Given the description of an element on the screen output the (x, y) to click on. 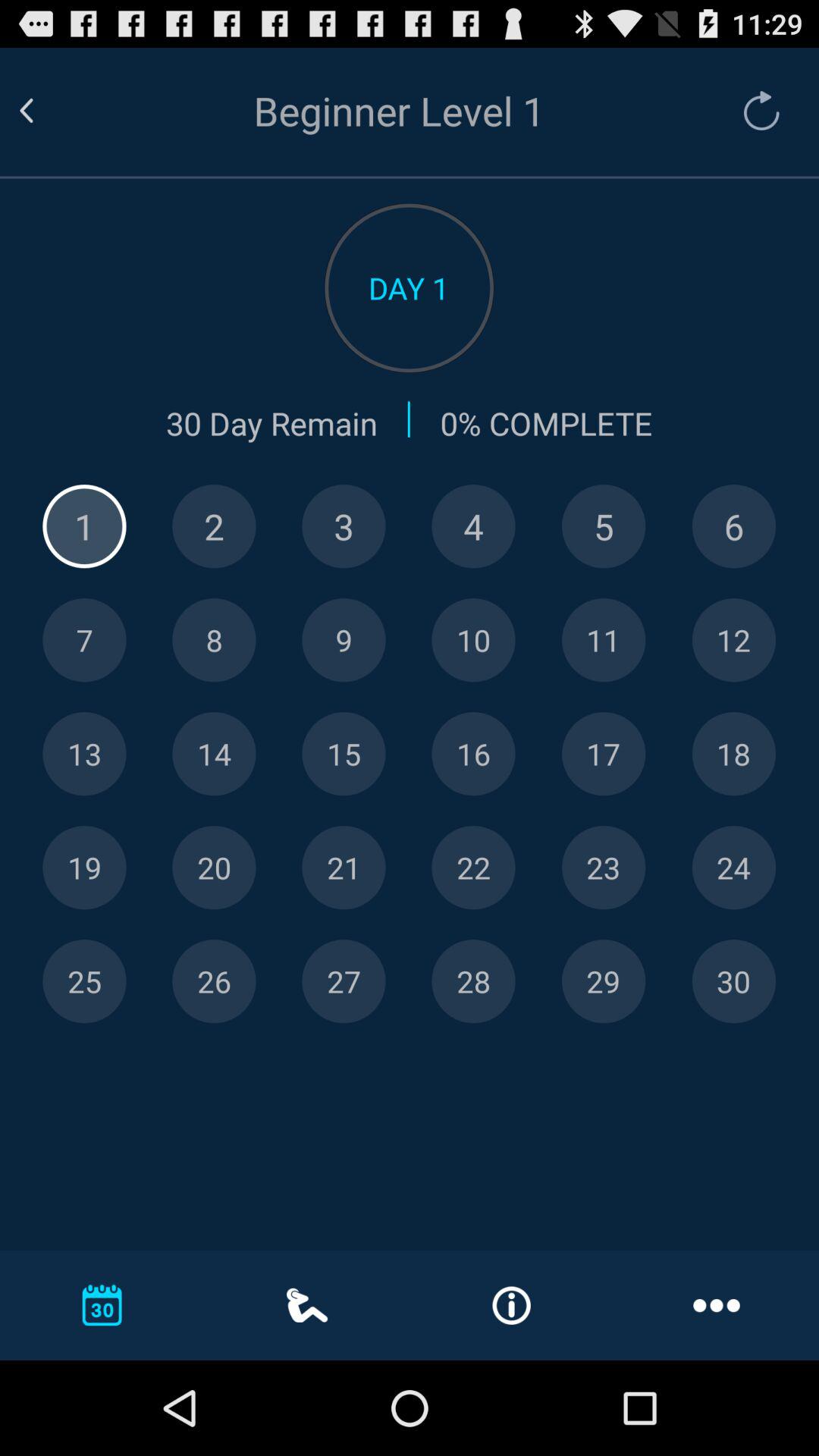
let you look at that specific day (84, 753)
